Given the description of an element on the screen output the (x, y) to click on. 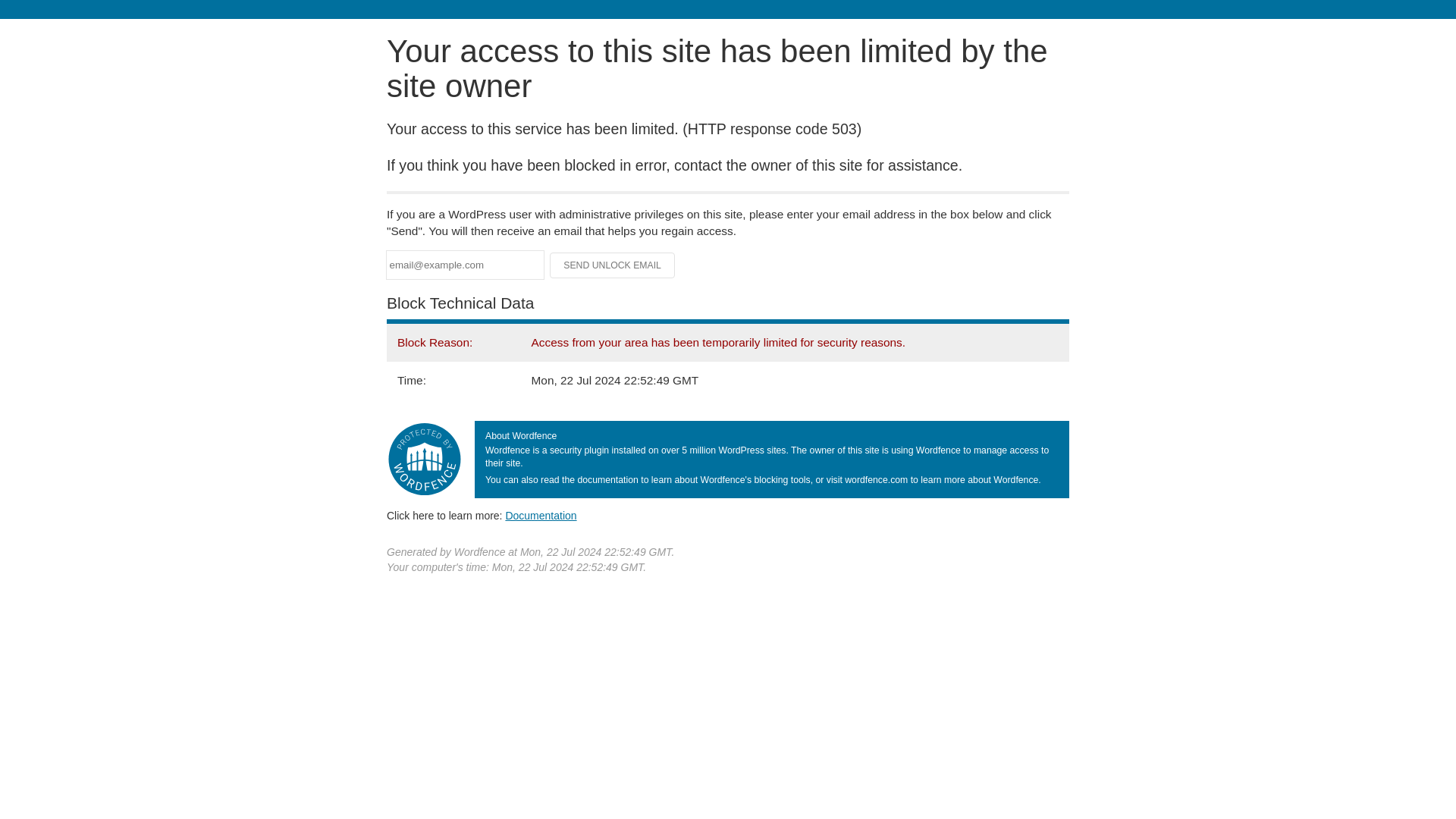
Send Unlock Email (612, 265)
Documentation (540, 515)
Send Unlock Email (612, 265)
